Given the description of an element on the screen output the (x, y) to click on. 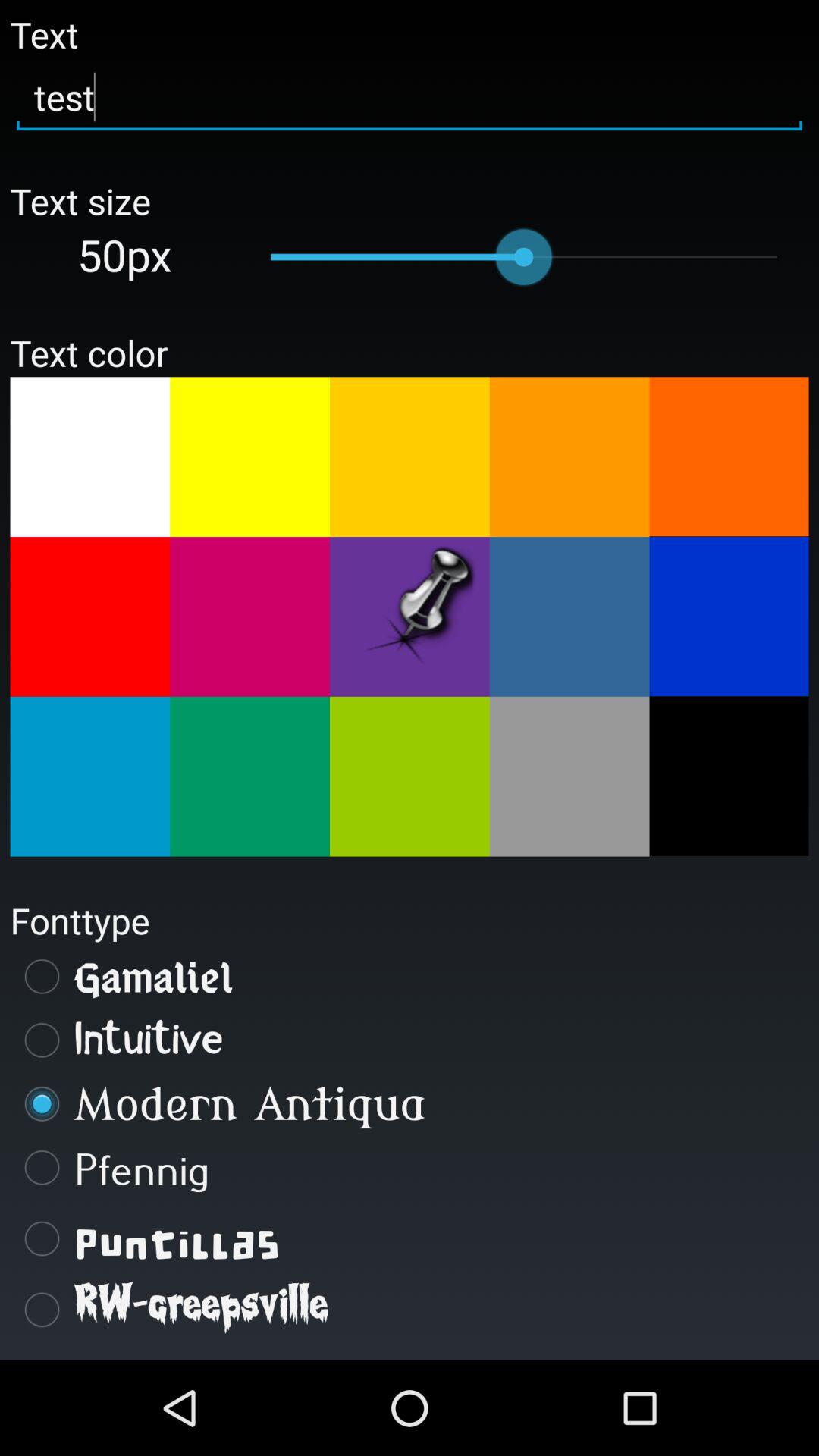
choose color light blue (569, 616)
